Given the description of an element on the screen output the (x, y) to click on. 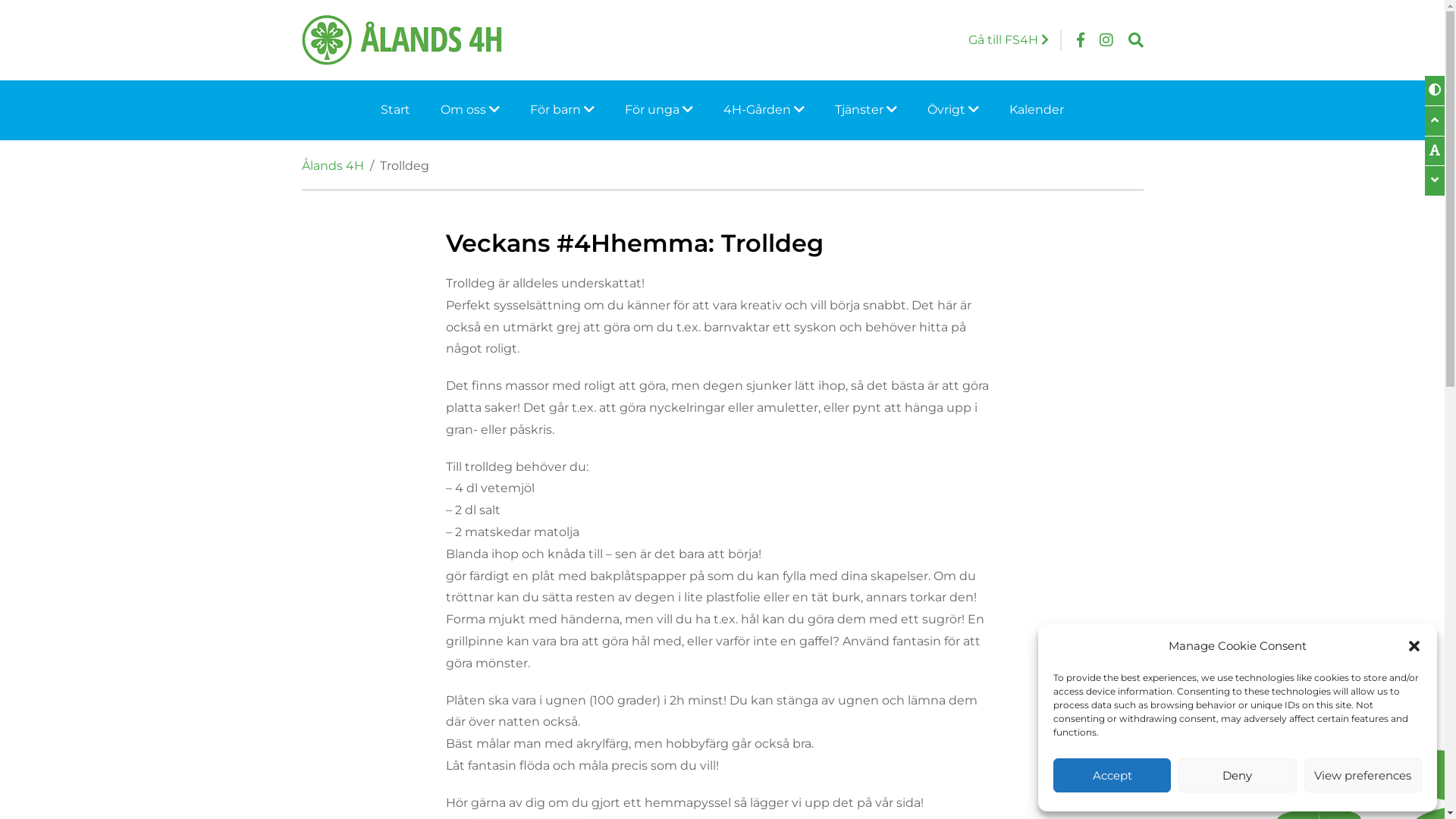
Deny Element type: text (1236, 775)
Skip to content Element type: text (0, 0)
Follow us on Facebook Element type: text (1080, 40)
Search Element type: text (1135, 39)
Accept Element type: text (1111, 775)
Kalender Element type: text (1036, 109)
Start Element type: text (395, 109)
Follow us on Instagram Element type: text (1106, 40)
Om oss Element type: text (469, 109)
View preferences Element type: text (1362, 775)
